Given the description of an element on the screen output the (x, y) to click on. 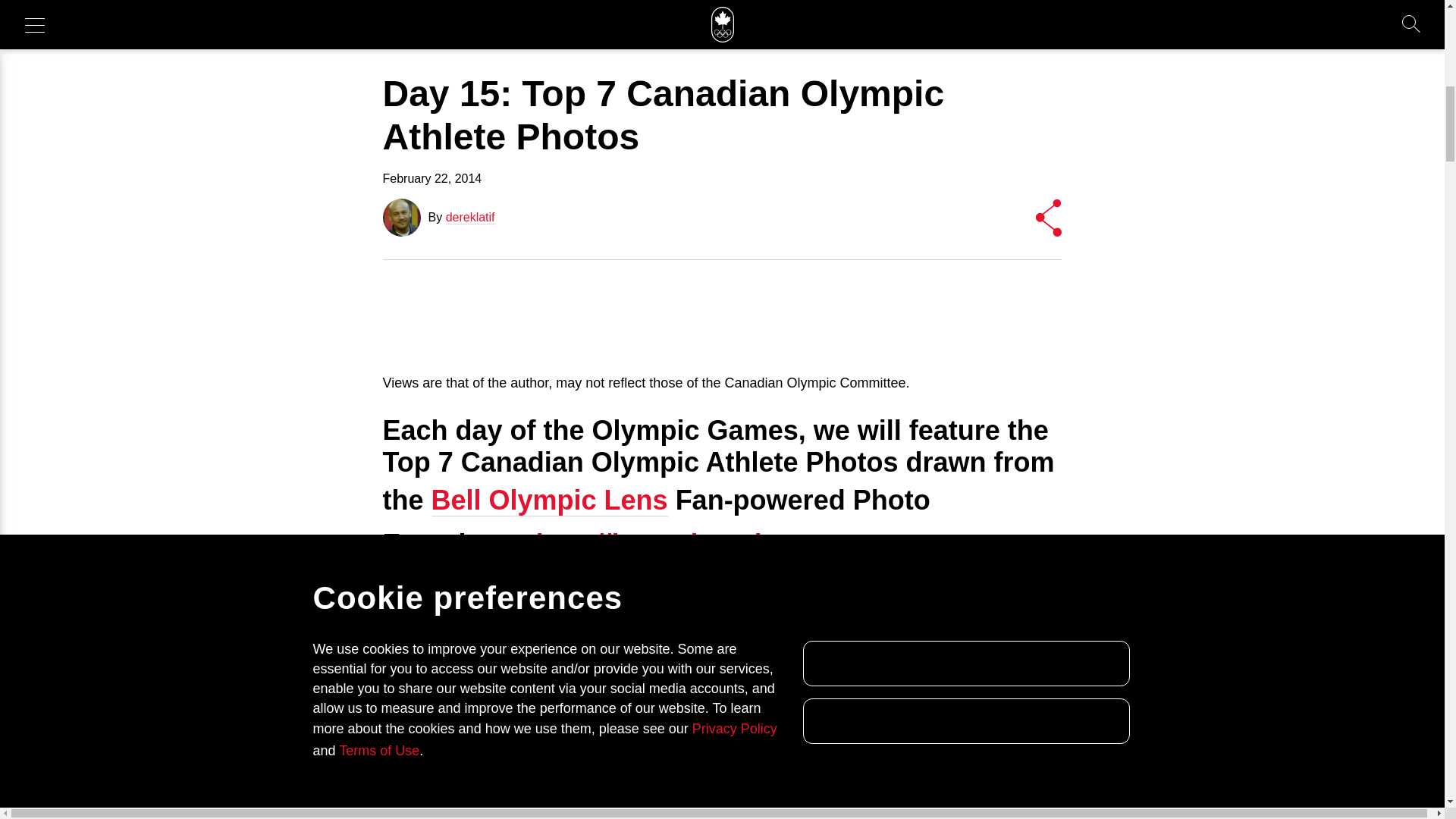
Cody Sorensen (702, 680)
Scott Perras (825, 815)
Ben Coakwell (579, 691)
Jesse Lumsden (831, 669)
3rd party ad content (721, 316)
Christopher Spring (507, 756)
Brendan Green (916, 815)
Justin Kripps (617, 669)
Lyndon Rush (808, 734)
